Given the description of an element on the screen output the (x, y) to click on. 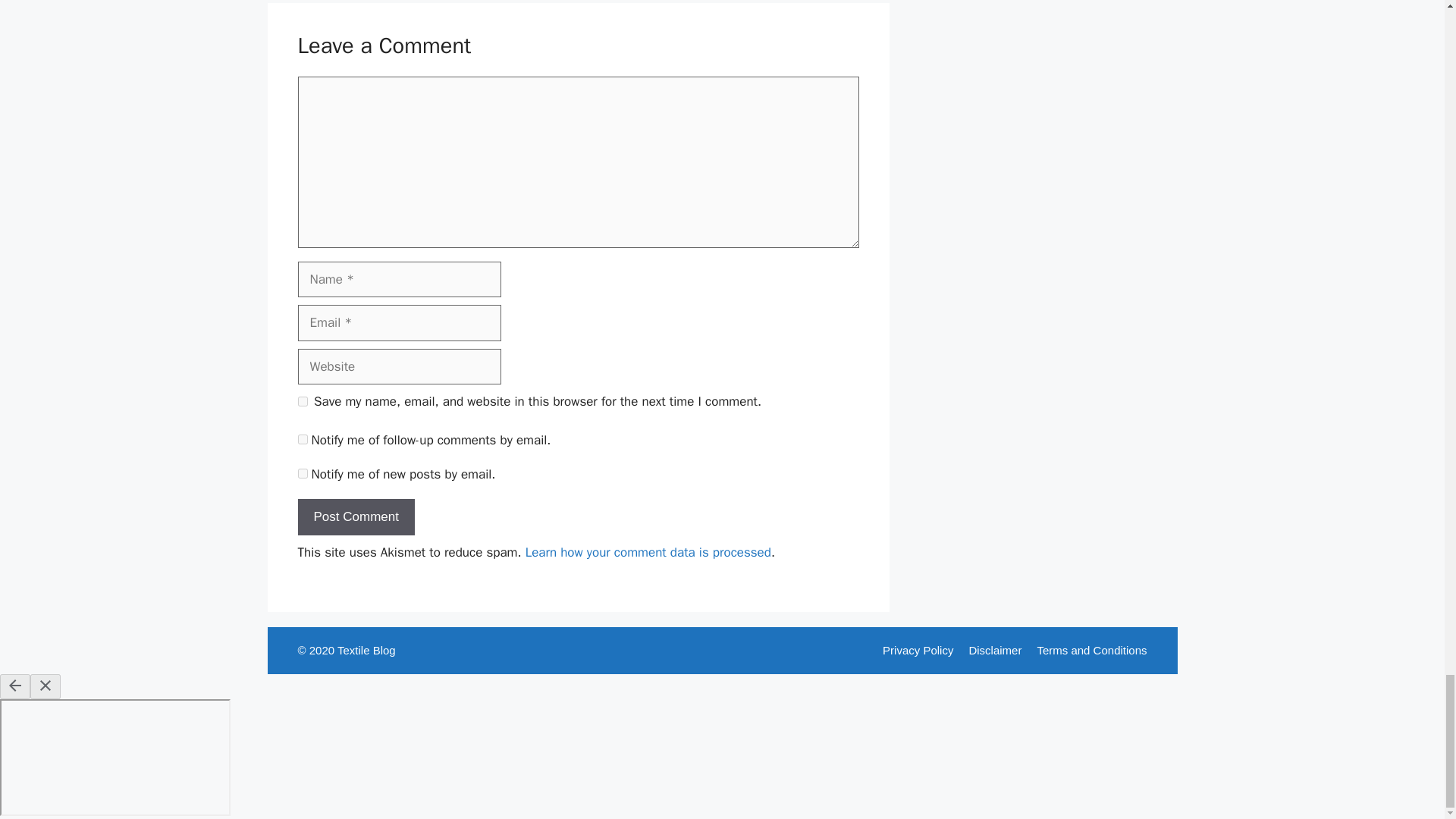
Learn how your comment data is processed (648, 552)
Post Comment (355, 516)
subscribe (302, 473)
Post Comment (355, 516)
subscribe (302, 439)
yes (302, 401)
